Given the description of an element on the screen output the (x, y) to click on. 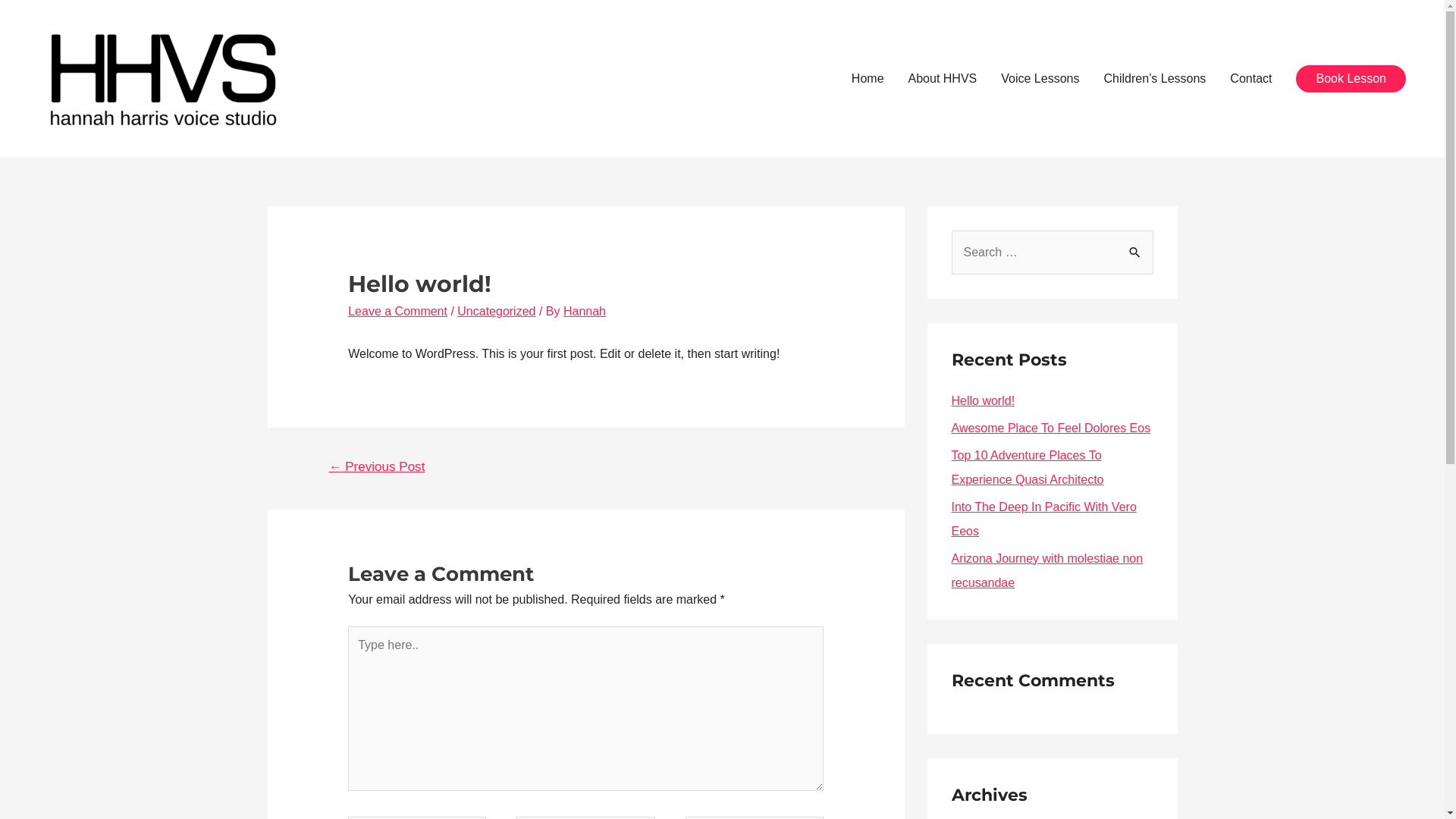
Contact Element type: text (1250, 78)
Book Lesson Element type: text (1350, 78)
Into The Deep In Pacific With Vero Eeos Element type: text (1042, 518)
Awesome Place To Feel Dolores Eos Element type: text (1050, 427)
About HHVS Element type: text (942, 78)
Top 10 Adventure Places To Experience Quasi Architecto Element type: text (1026, 467)
Voice Lessons Element type: text (1039, 78)
Leave a Comment Element type: text (397, 310)
Hello world! Element type: text (982, 400)
Home Element type: text (867, 78)
Arizona Journey with molestiae non recusandae Element type: text (1046, 570)
Uncategorized Element type: text (496, 310)
Hannah Element type: text (584, 310)
Search Element type: text (1136, 251)
